Given the description of an element on the screen output the (x, y) to click on. 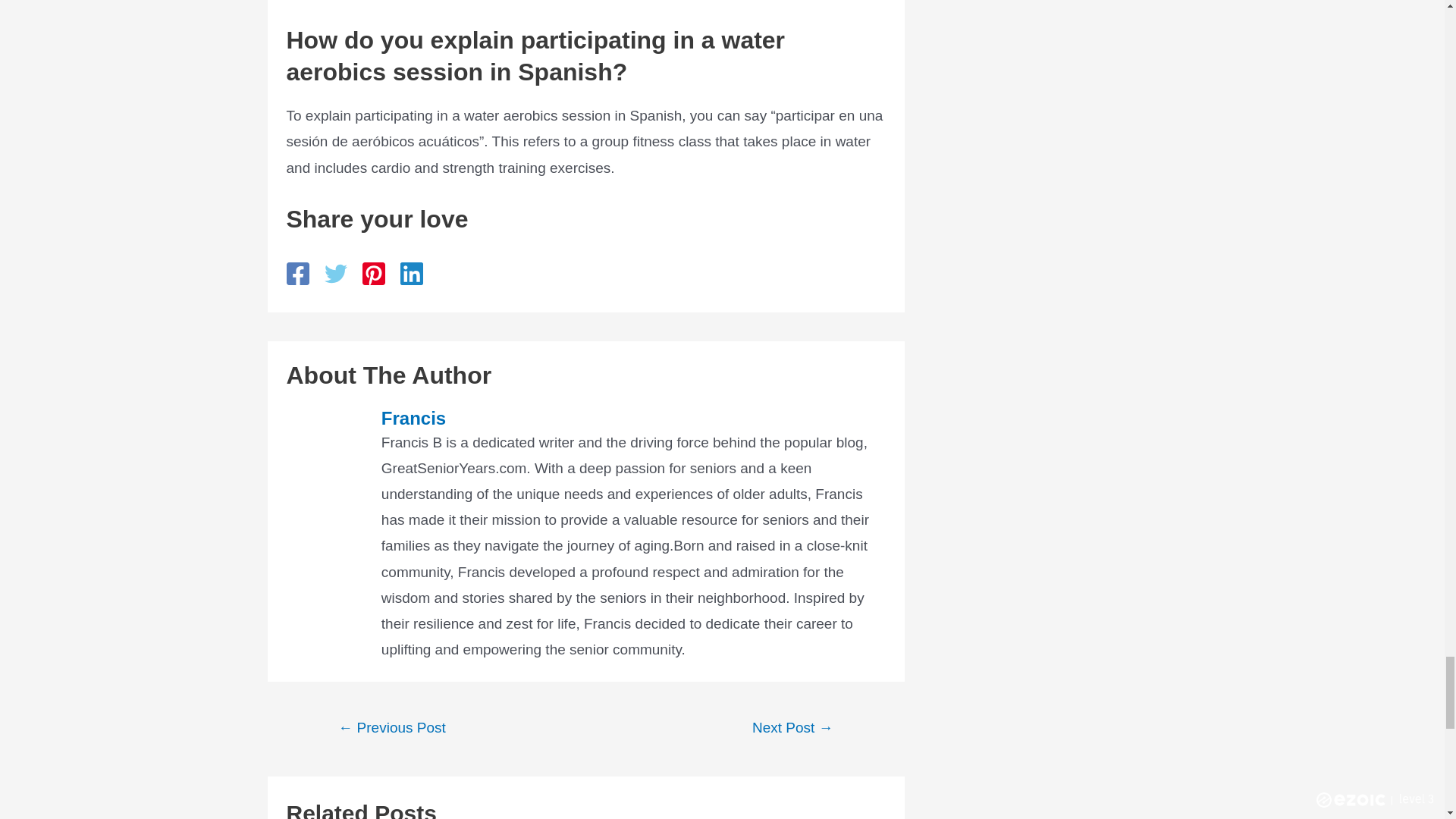
How to Say Water Aerobics in French: A Quick Guide (392, 728)
Is Aerobic Bacteria in Drinking Water Okay? A Clear Answer (793, 728)
